Given the description of an element on the screen output the (x, y) to click on. 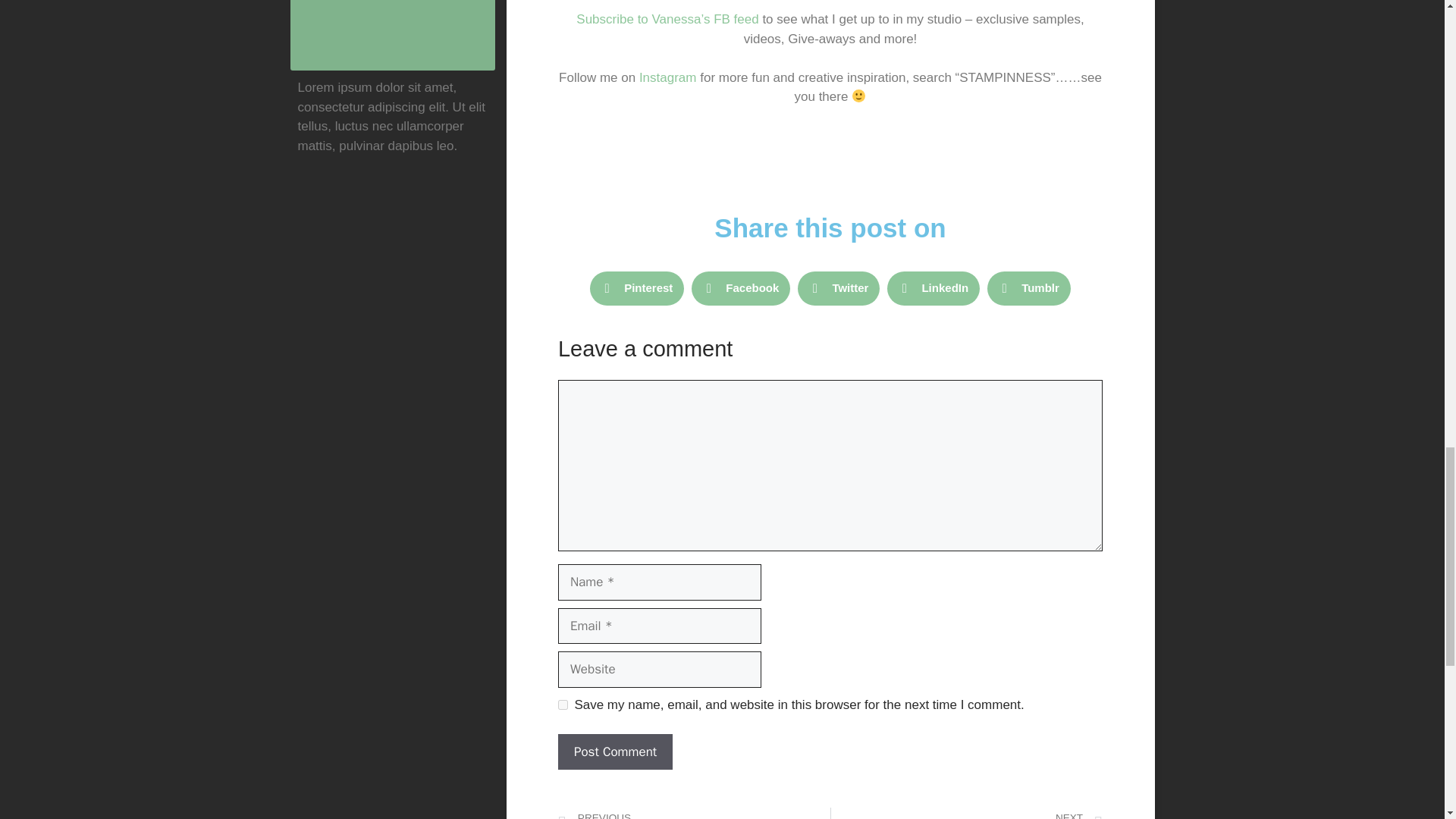
Post Comment (614, 751)
yes (562, 705)
